Given the description of an element on the screen output the (x, y) to click on. 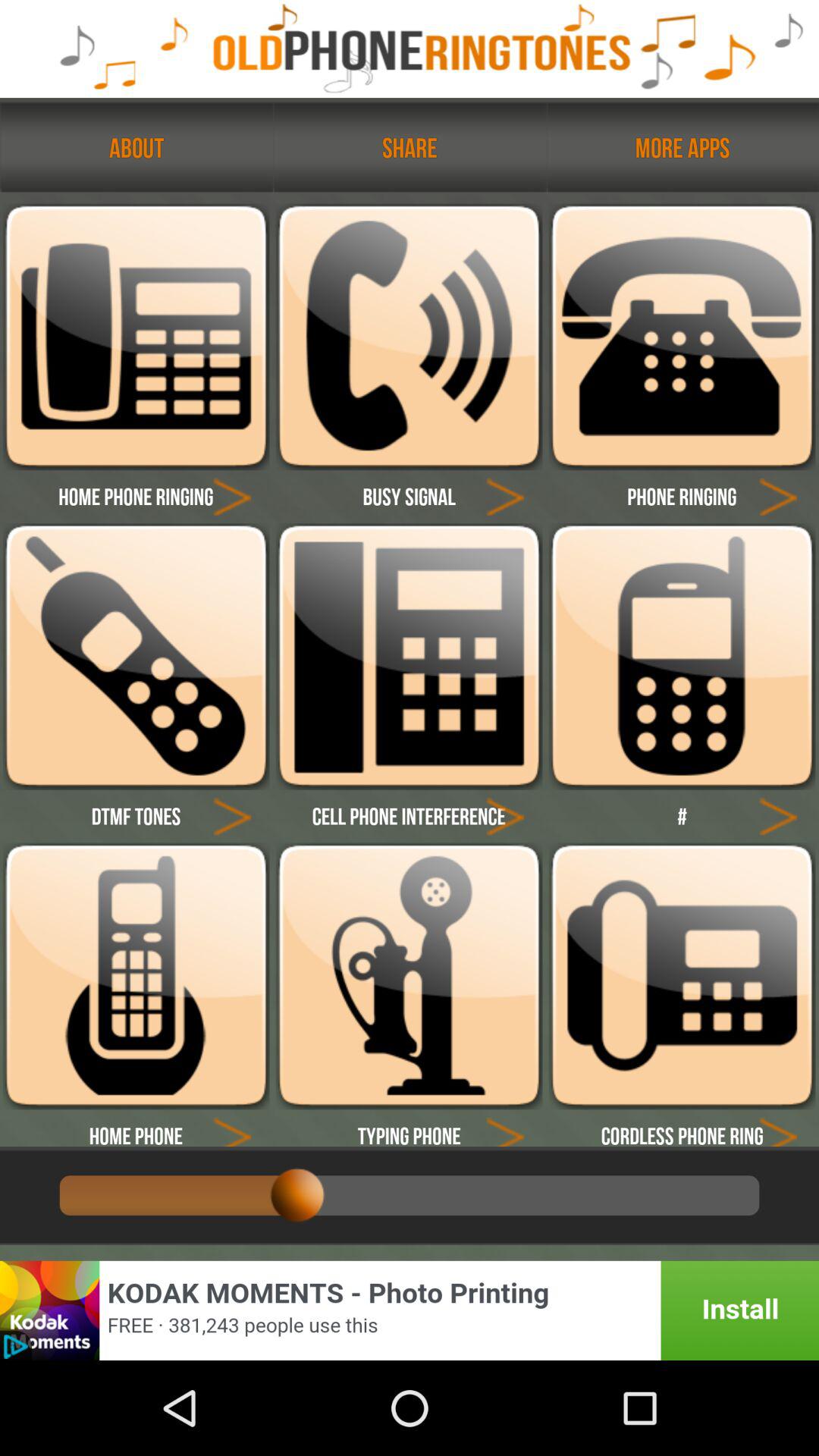
go to next (505, 1127)
